Given the description of an element on the screen output the (x, y) to click on. 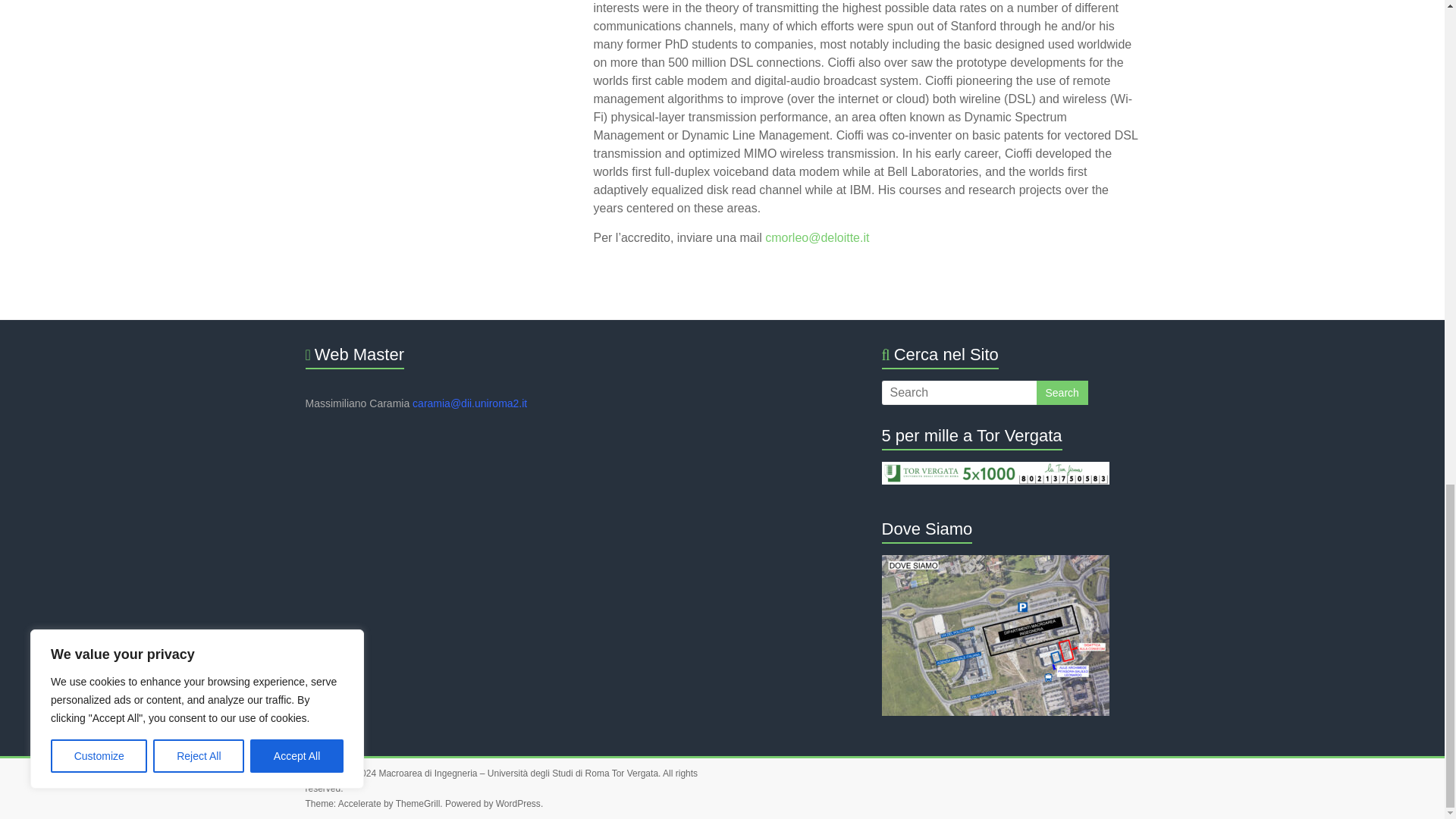
WordPress (518, 803)
Accelerate (359, 803)
Search (1061, 392)
